Given the description of an element on the screen output the (x, y) to click on. 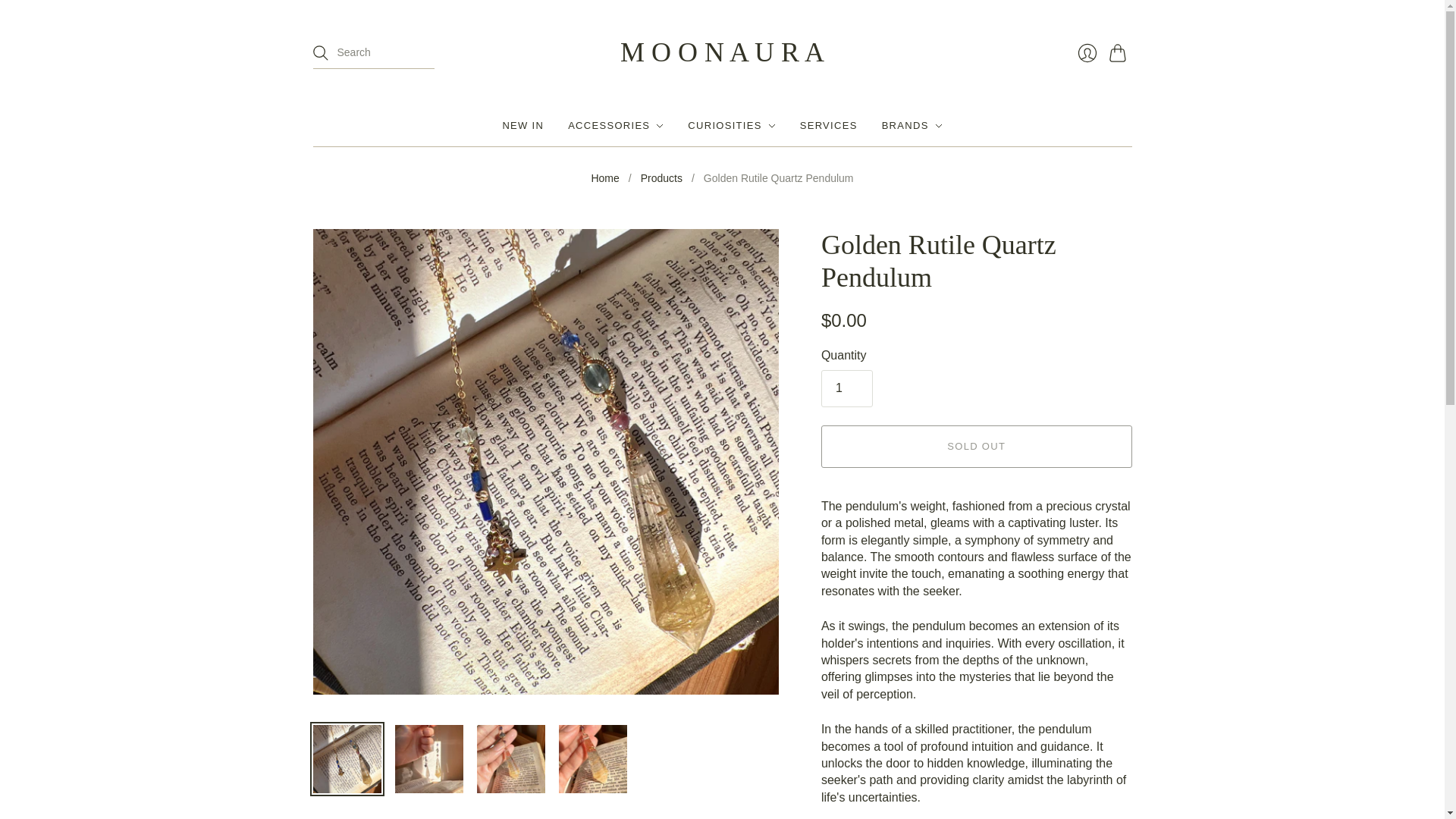
Cart (1119, 52)
Login (1086, 51)
M O O N A U R A (722, 51)
NEW IN (522, 125)
SERVICES (828, 125)
1 (846, 388)
